Given the description of an element on the screen output the (x, y) to click on. 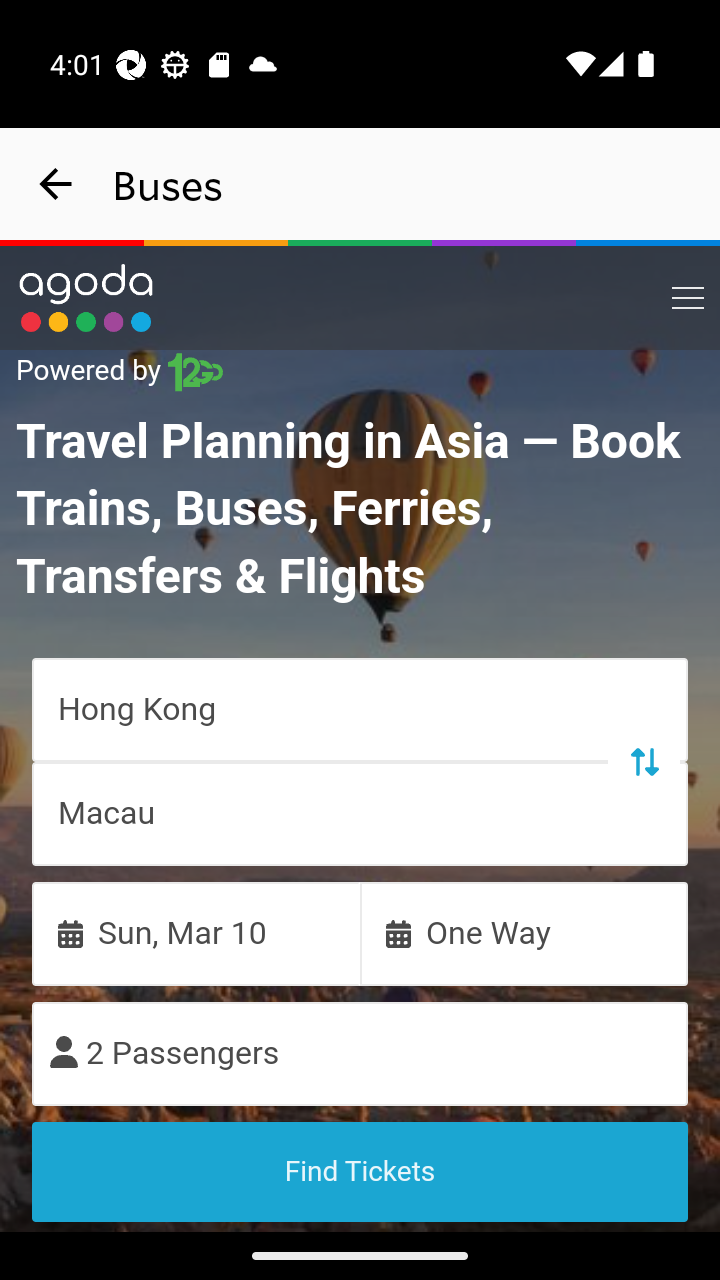
navigation_button (56, 184)
Link to main page 5418 (86, 298)
Hong Kong Swap trip points (359, 708)
Swap trip points (643, 760)
Macau (359, 813)
Sun, Mar 10 (195, 932)
One Way (524, 932)
 2 Passengers (359, 1052)
Find Tickets (359, 1171)
